Given the description of an element on the screen output the (x, y) to click on. 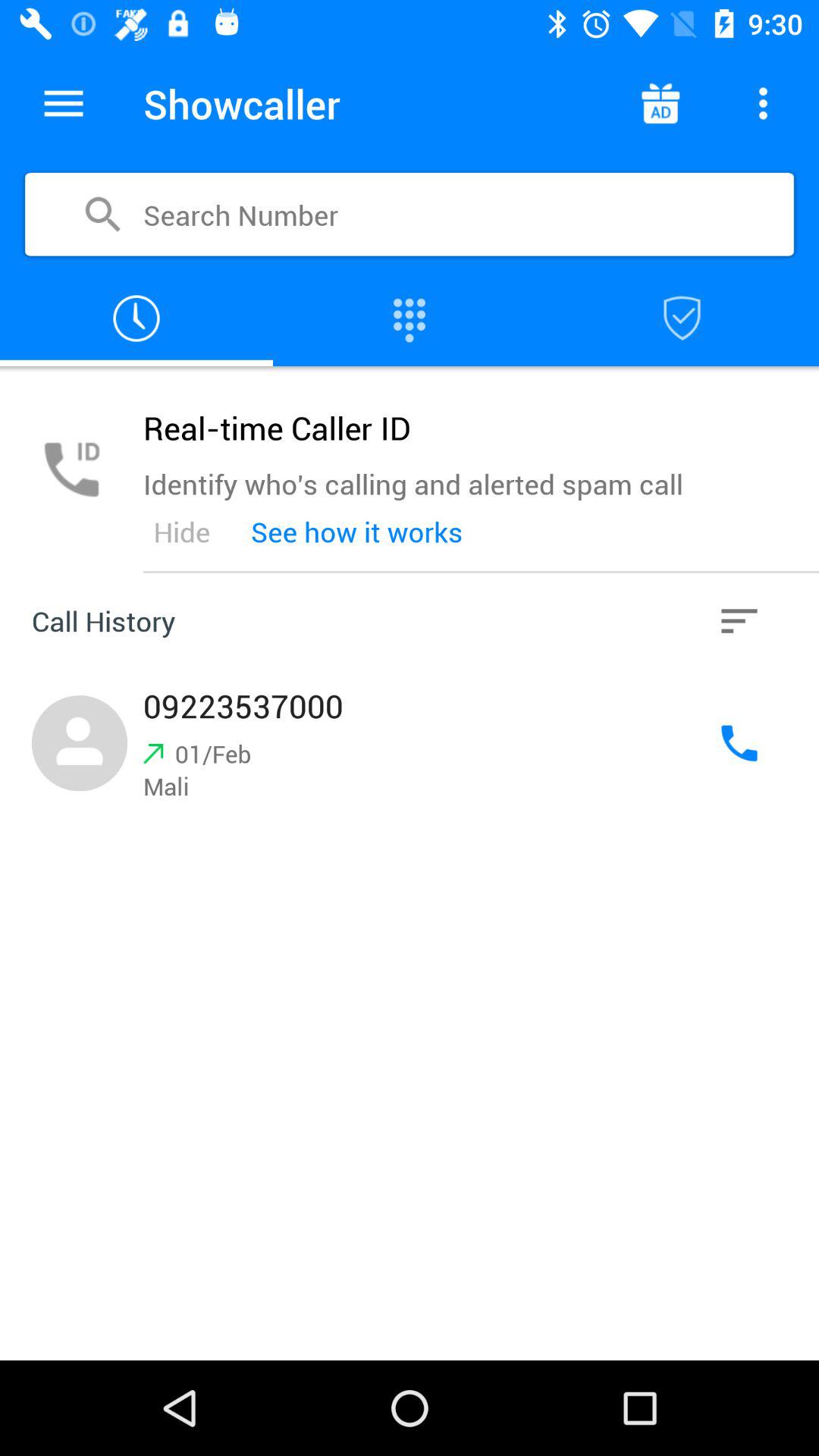
click the hide icon (181, 531)
